Given the description of an element on the screen output the (x, y) to click on. 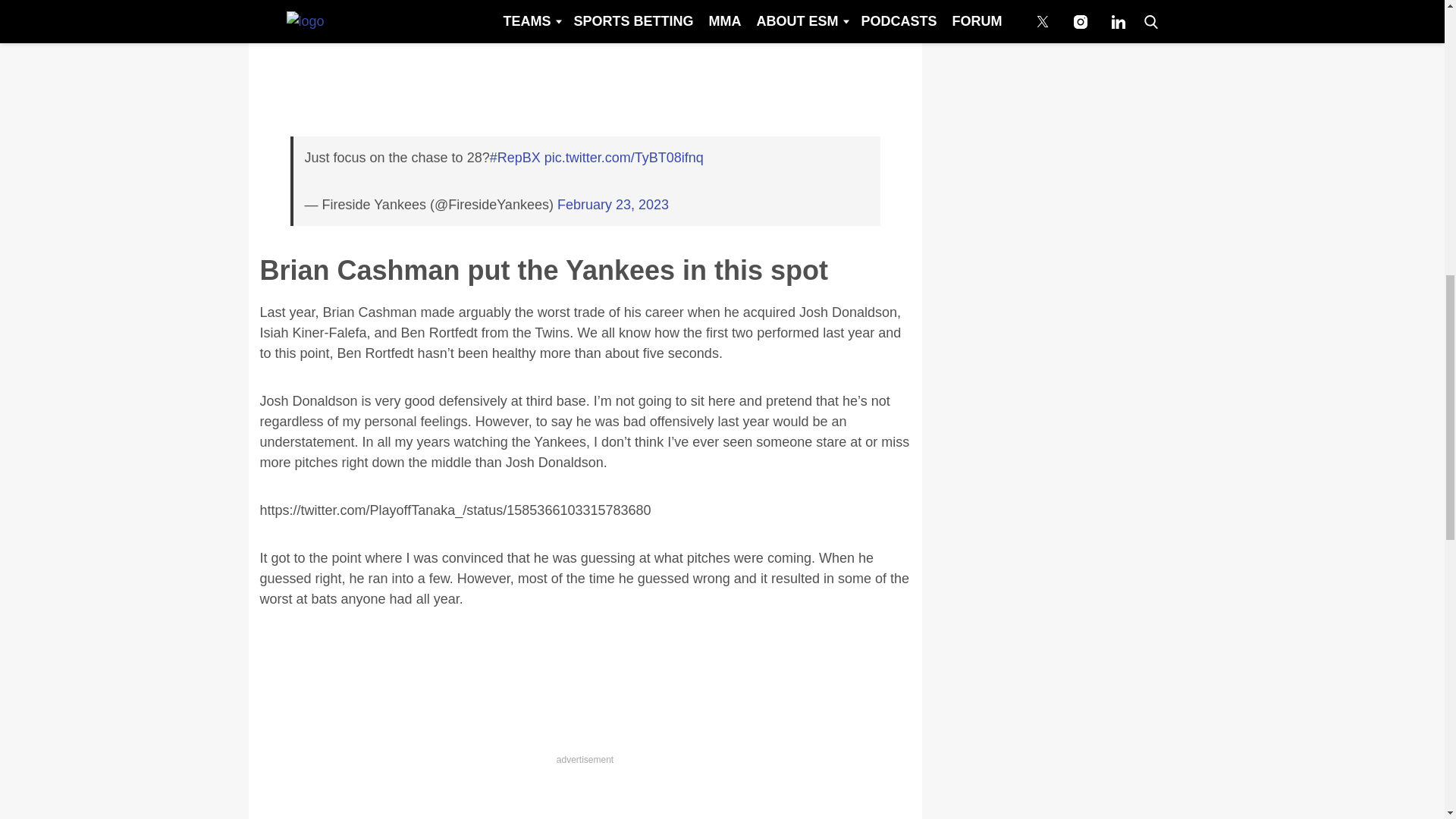
February 23, 2023 (612, 204)
